Given the description of an element on the screen output the (x, y) to click on. 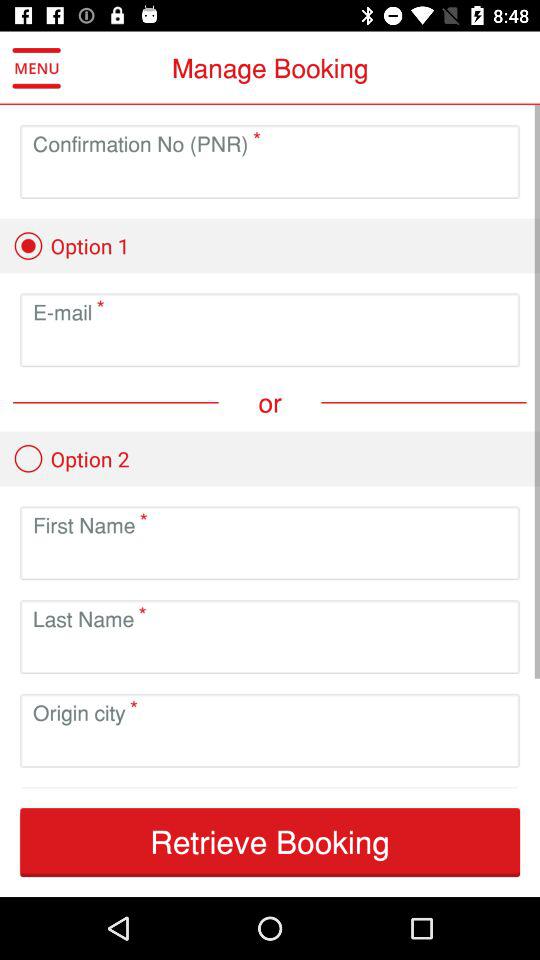
launch icon next to manage booking item (36, 68)
